Given the description of an element on the screen output the (x, y) to click on. 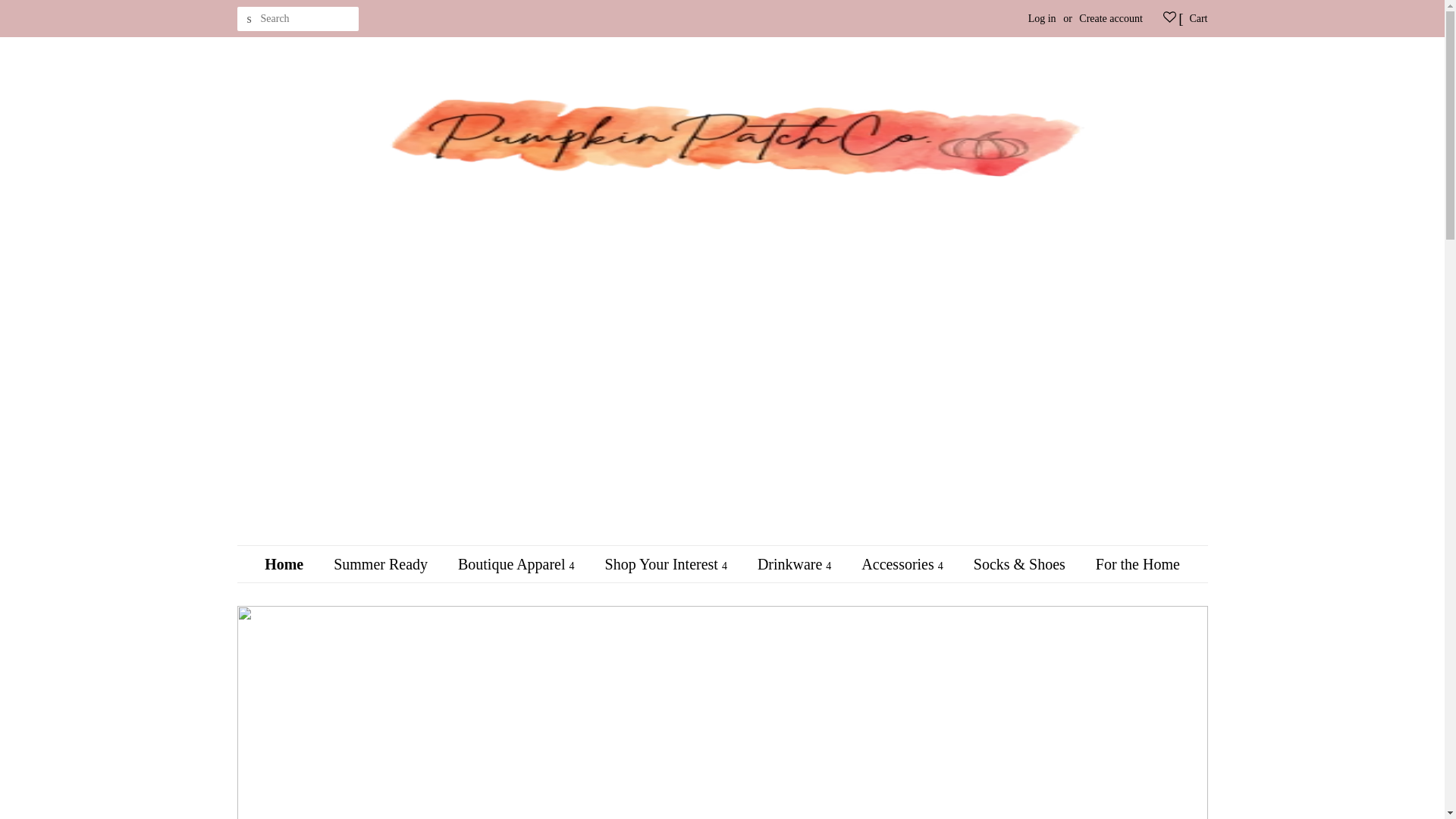
Log in (1042, 18)
Search (247, 18)
Create account (1110, 18)
Cart (1198, 18)
